Given the description of an element on the screen output the (x, y) to click on. 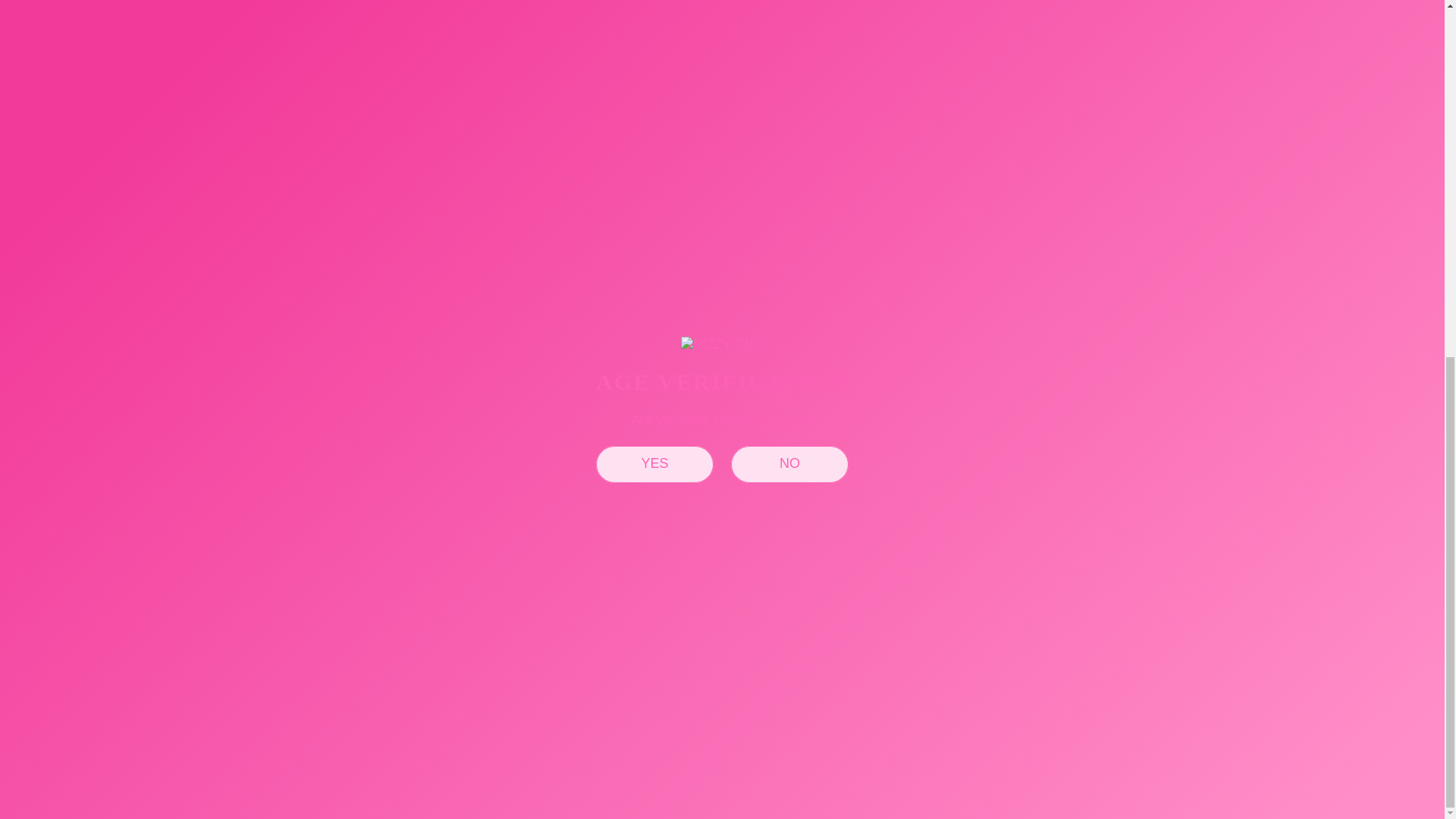
CAN I COMBINE DISCOUNTS? (720, 130)
Pinterest (73, 580)
SUBSCRIPTIONS (794, 527)
WHEN WILL MY ORDER SHIP? (720, 218)
OUR STORY (544, 527)
GUMMIES (536, 552)
Facebook (41, 580)
MERCH (528, 602)
BIZZY BODY (544, 577)
YouTube (133, 580)
